Given the description of an element on the screen output the (x, y) to click on. 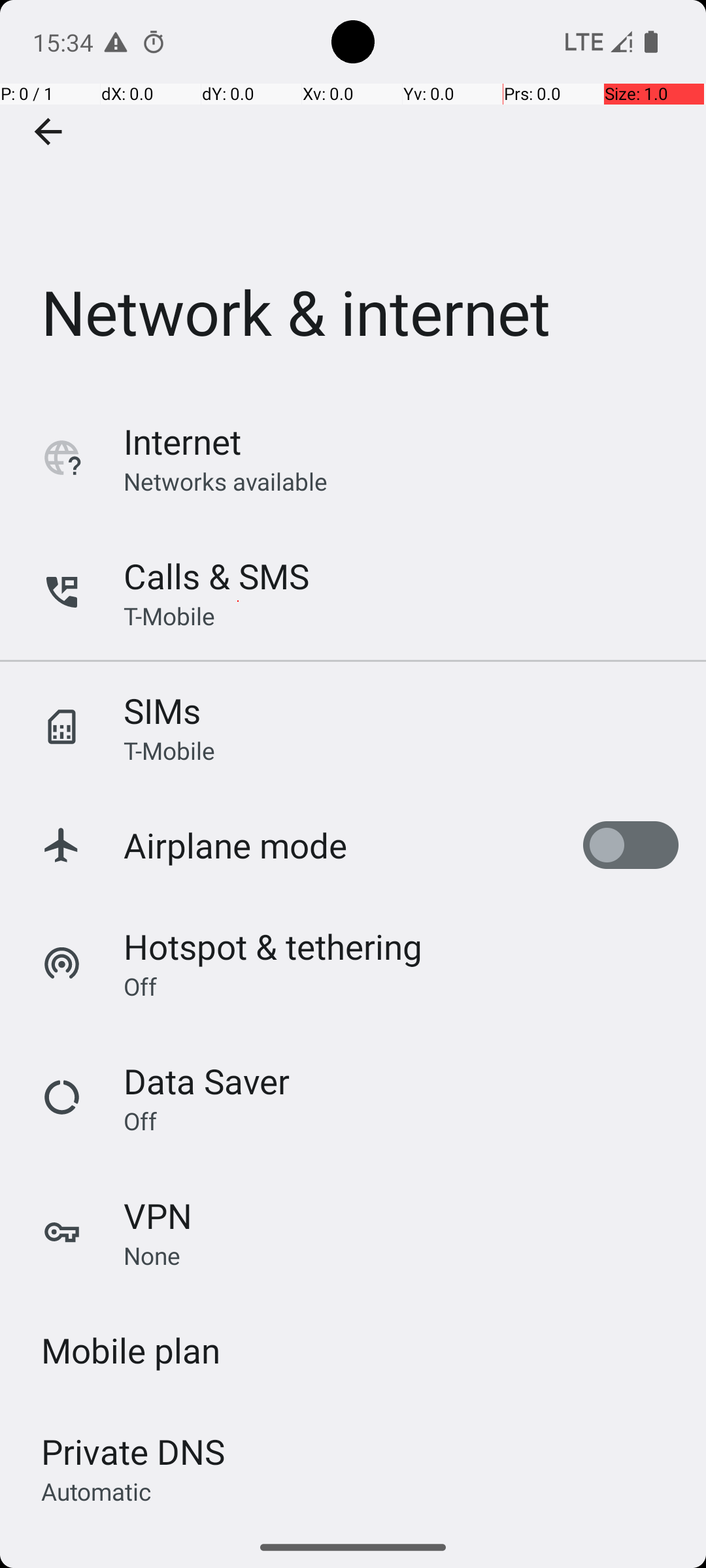
Internet Element type: android.widget.TextView (182, 441)
Networks available Element type: android.widget.TextView (225, 480)
Calls & SMS Element type: android.widget.TextView (216, 575)
T-Mobile Element type: android.widget.TextView (169, 615)
SIMs Element type: android.widget.TextView (161, 710)
Airplane mode Element type: android.widget.TextView (235, 844)
Hotspot & tethering Element type: android.widget.TextView (272, 946)
Data Saver Element type: android.widget.TextView (206, 1080)
VPN Element type: android.widget.TextView (157, 1215)
Mobile plan Element type: android.widget.TextView (130, 1349)
Private DNS Element type: android.widget.TextView (132, 1451)
Automatic Element type: android.widget.TextView (96, 1490)
